Given the description of an element on the screen output the (x, y) to click on. 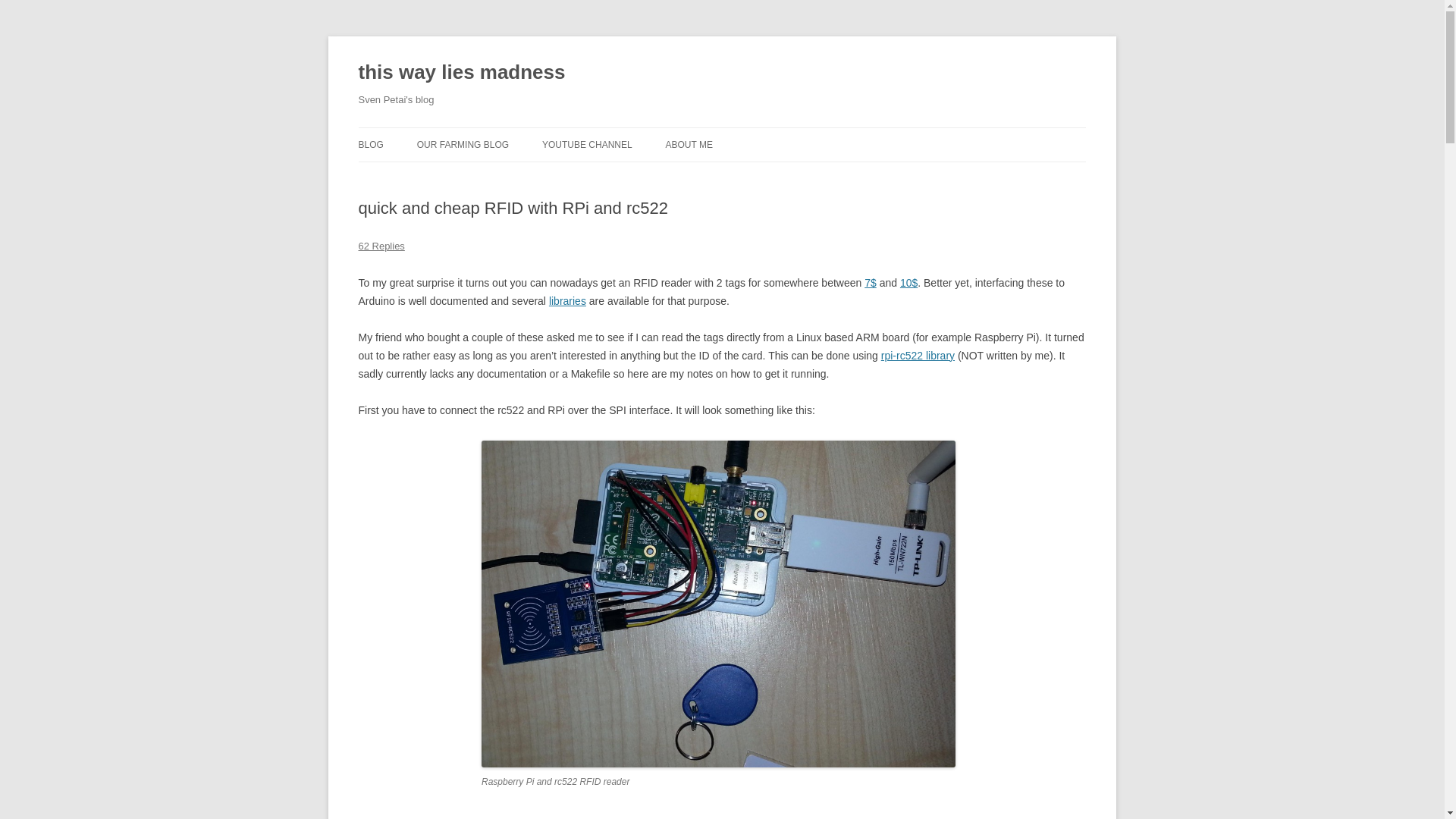
Skip to content (757, 132)
62 Replies (381, 245)
ABOUT ME (689, 144)
YOUTUBE CHANNEL (586, 144)
this way lies madness (461, 72)
OUR FARMING BLOG (462, 144)
Skip to content (757, 132)
rpi-rc522 library (917, 355)
libraries (567, 300)
this way lies madness (461, 72)
